Given the description of an element on the screen output the (x, y) to click on. 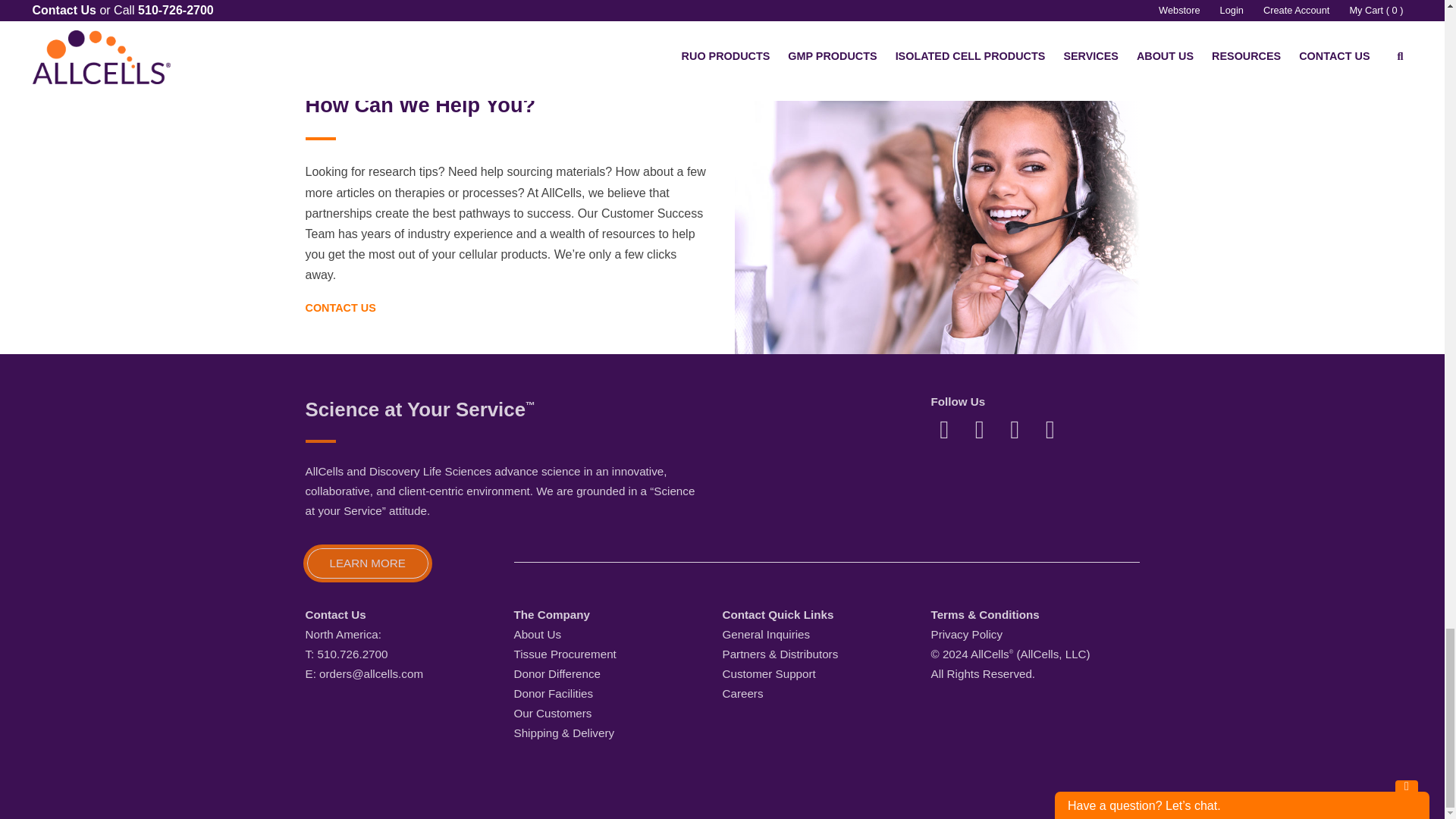
Instagram (1014, 428)
Facebook (943, 428)
Twitter (1049, 428)
LinkedIn (979, 428)
